Given the description of an element on the screen output the (x, y) to click on. 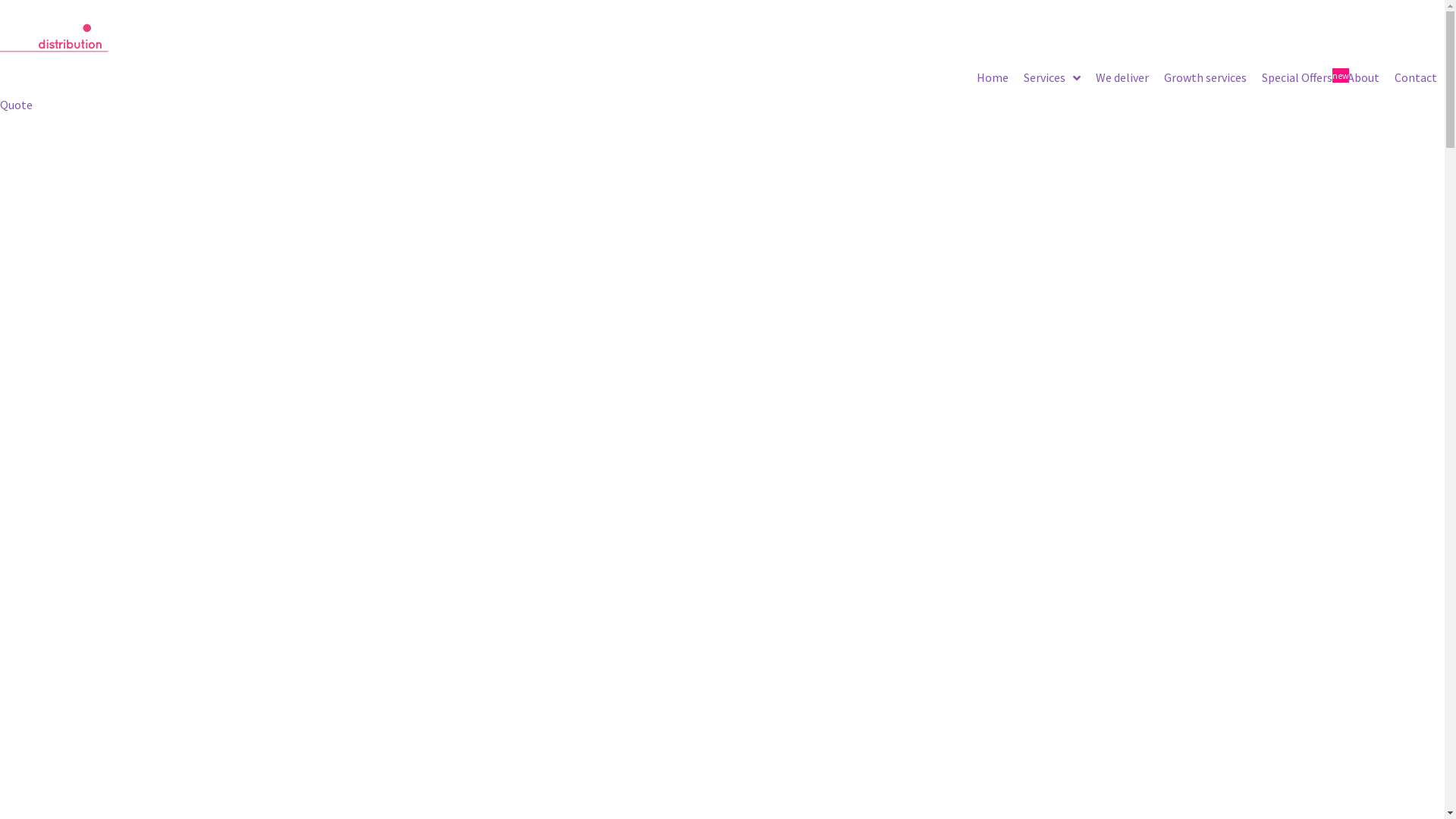
Contact Element type: text (1415, 77)
Quote Element type: text (16, 104)
Special Offers
new Element type: text (1296, 77)
About Element type: text (1362, 77)
We deliver Element type: text (1122, 77)
Home Element type: text (992, 77)
Growth services Element type: text (1205, 77)
Services Element type: text (1052, 77)
